Given the description of an element on the screen output the (x, y) to click on. 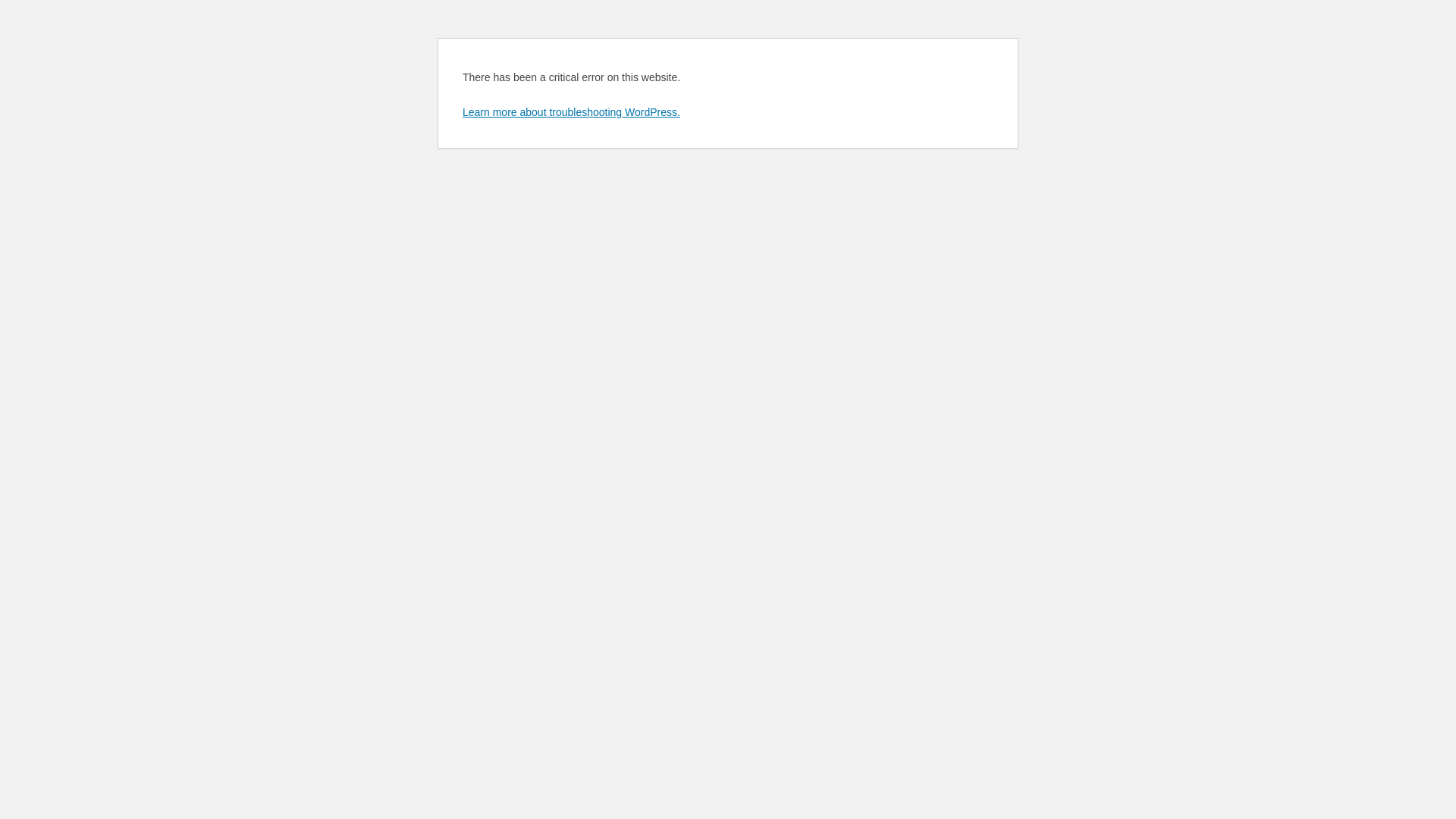
Learn more about troubleshooting WordPress. Element type: text (571, 112)
